Given the description of an element on the screen output the (x, y) to click on. 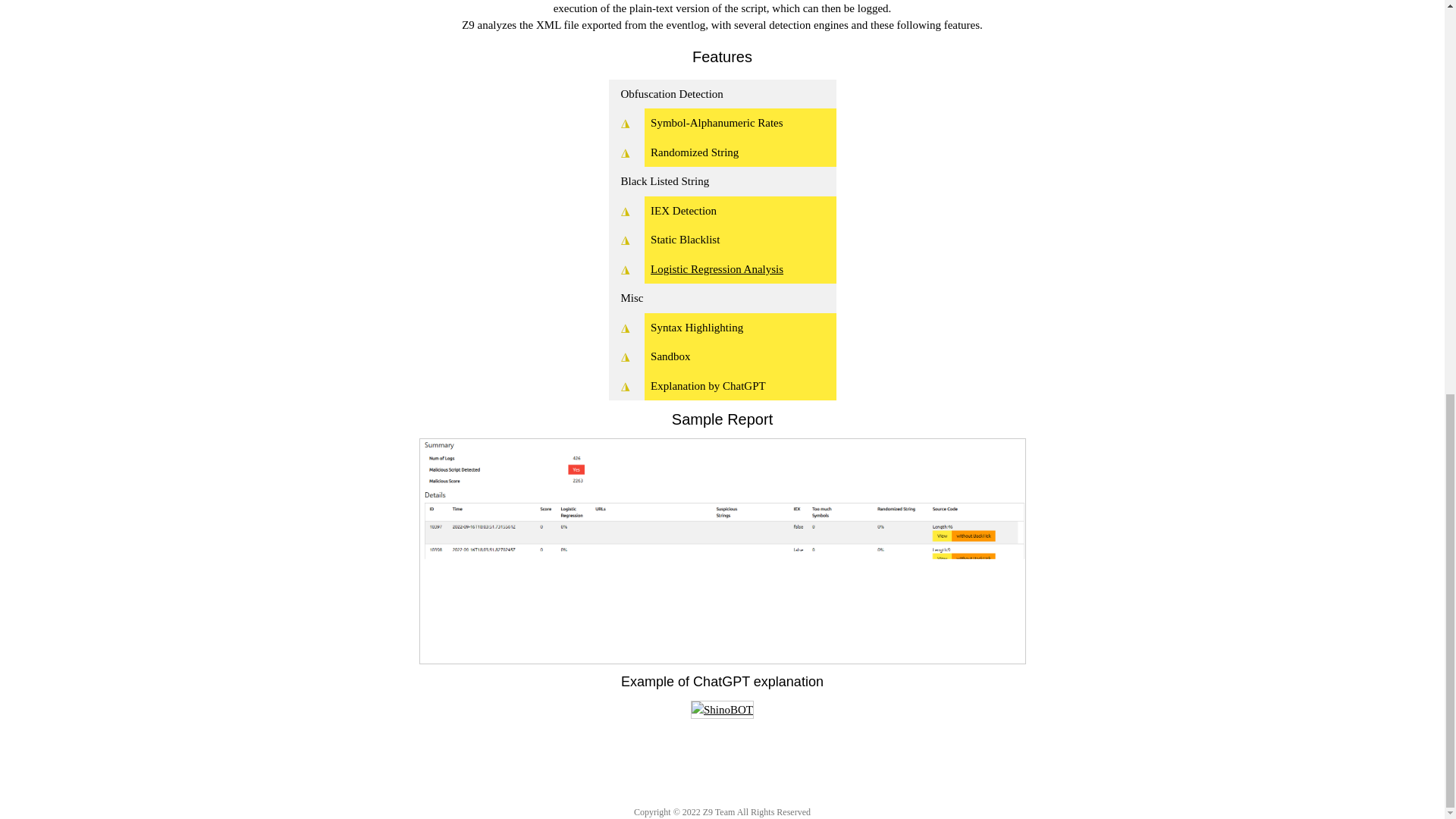
Logistic Regression Analysis (716, 268)
